Given the description of an element on the screen output the (x, y) to click on. 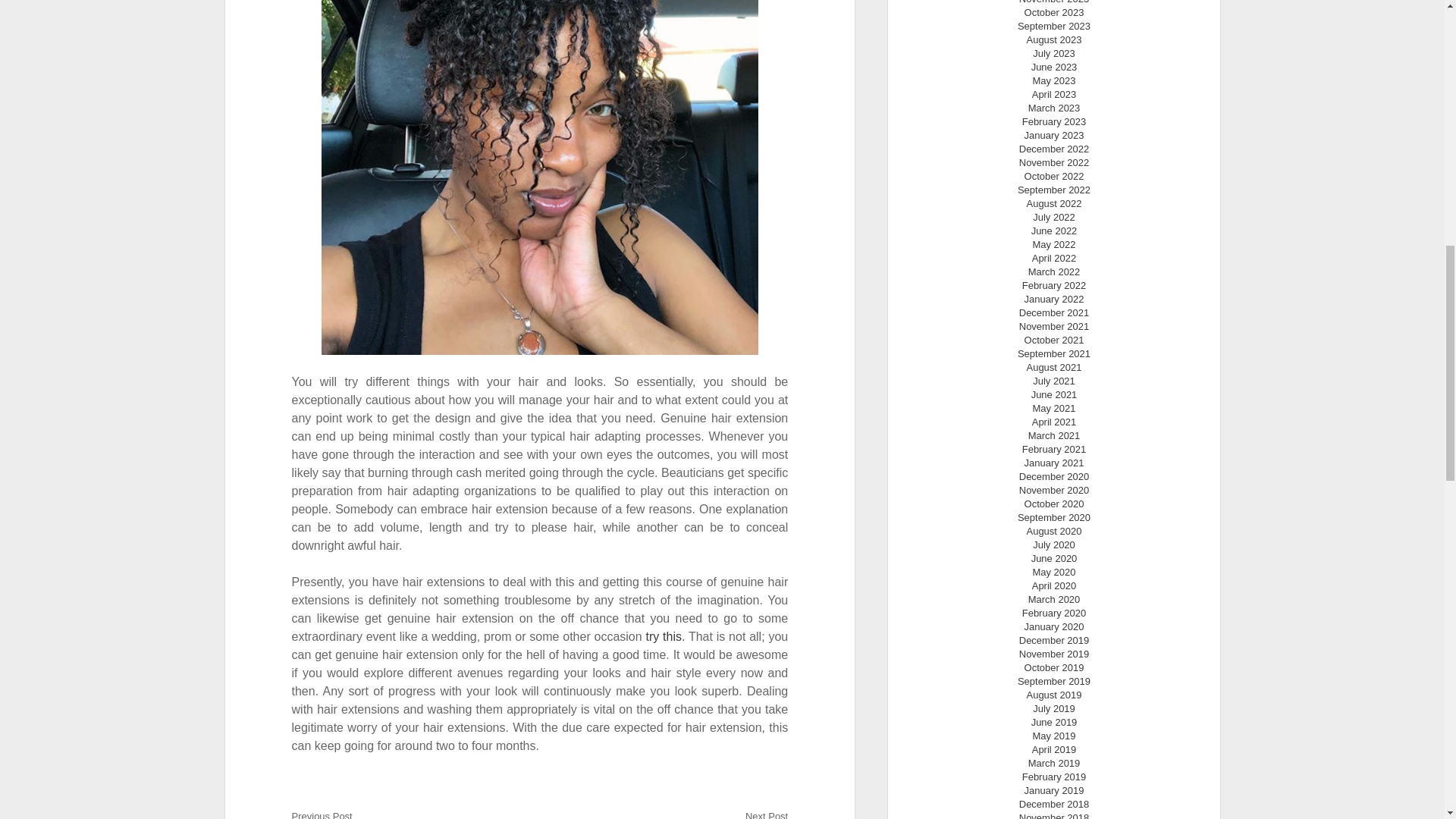
July 2023 (1053, 52)
November 2023 (1054, 2)
September 2023 (1053, 25)
October 2023 (1054, 12)
June 2023 (1053, 66)
try this (663, 635)
August 2023 (1053, 39)
